Given the description of an element on the screen output the (x, y) to click on. 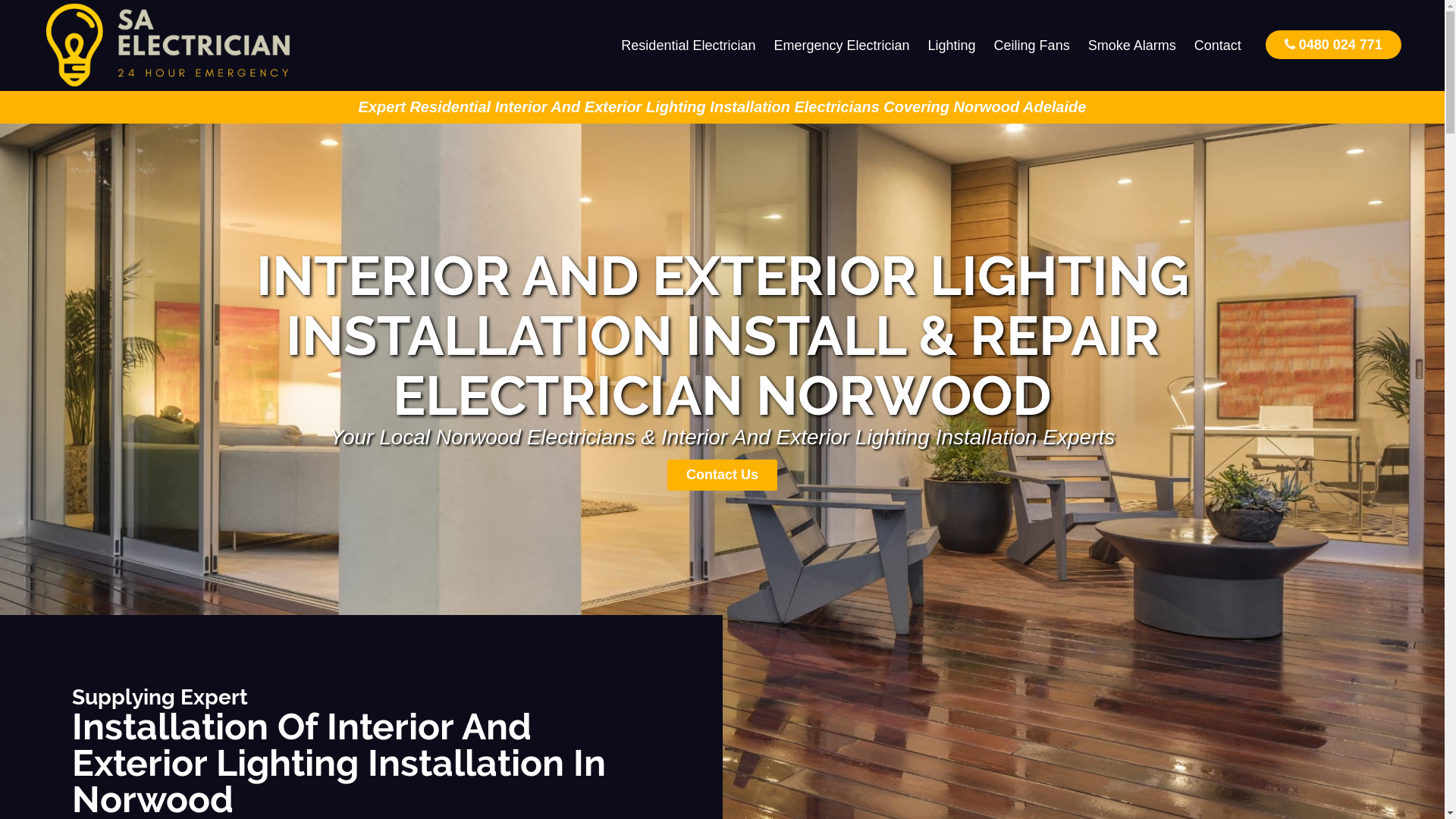
Emergency Electrician Element type: text (841, 45)
Residential Electrician Element type: text (687, 45)
Ceiling Fans Element type: text (1032, 45)
0480 024 771 Element type: text (1333, 44)
Smoke Alarms Element type: text (1132, 45)
Contact Element type: text (1217, 45)
Lighting Element type: text (952, 45)
Contact Us Element type: text (722, 474)
